Given the description of an element on the screen output the (x, y) to click on. 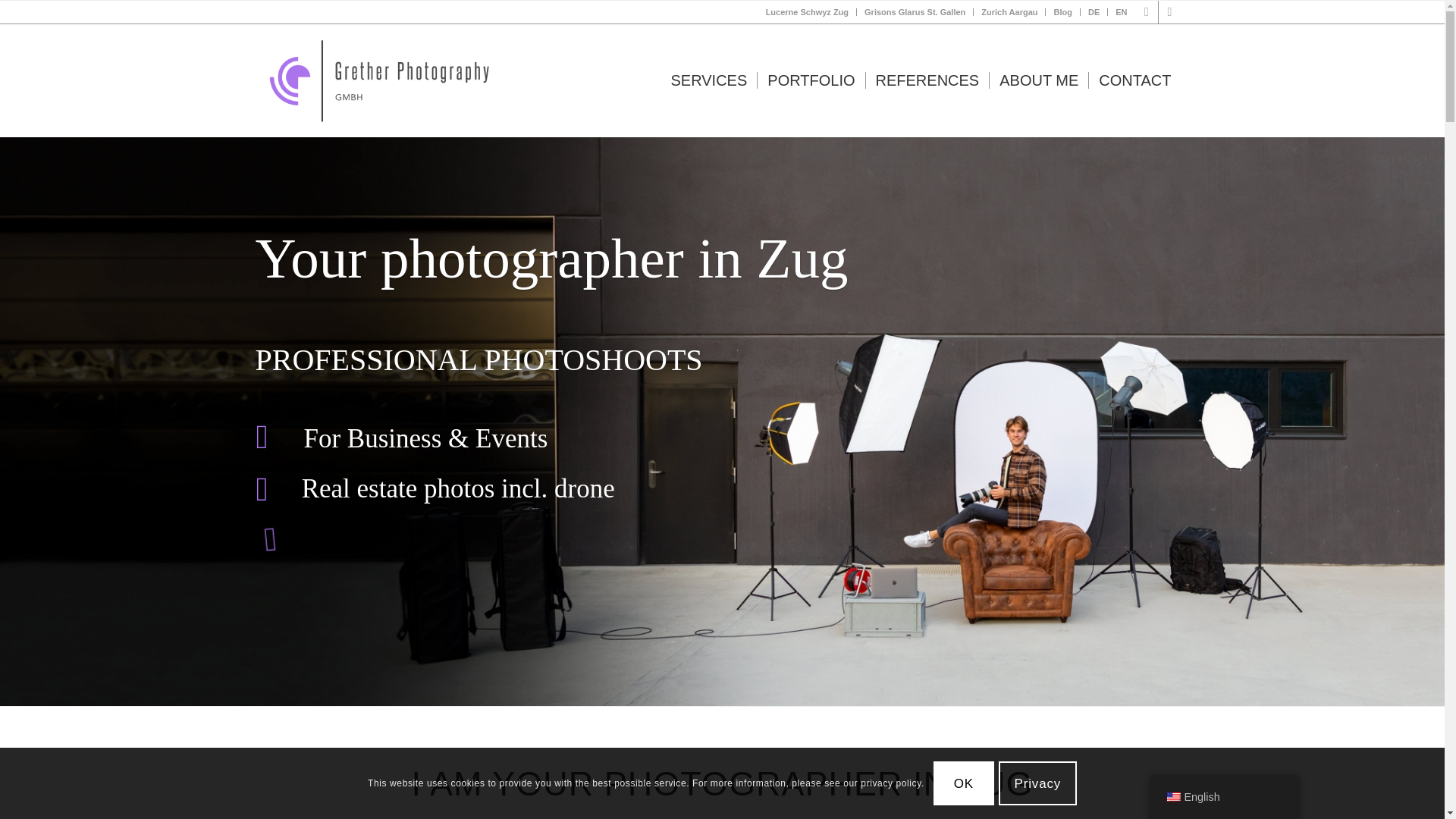
Lucerne Schwyz Zug (806, 12)
Zurich Aargau (1008, 12)
REFERENCES (927, 80)
PORTFOLIO (810, 80)
Blog (1061, 12)
Grisons Glarus St. Gallen (914, 12)
